Given the description of an element on the screen output the (x, y) to click on. 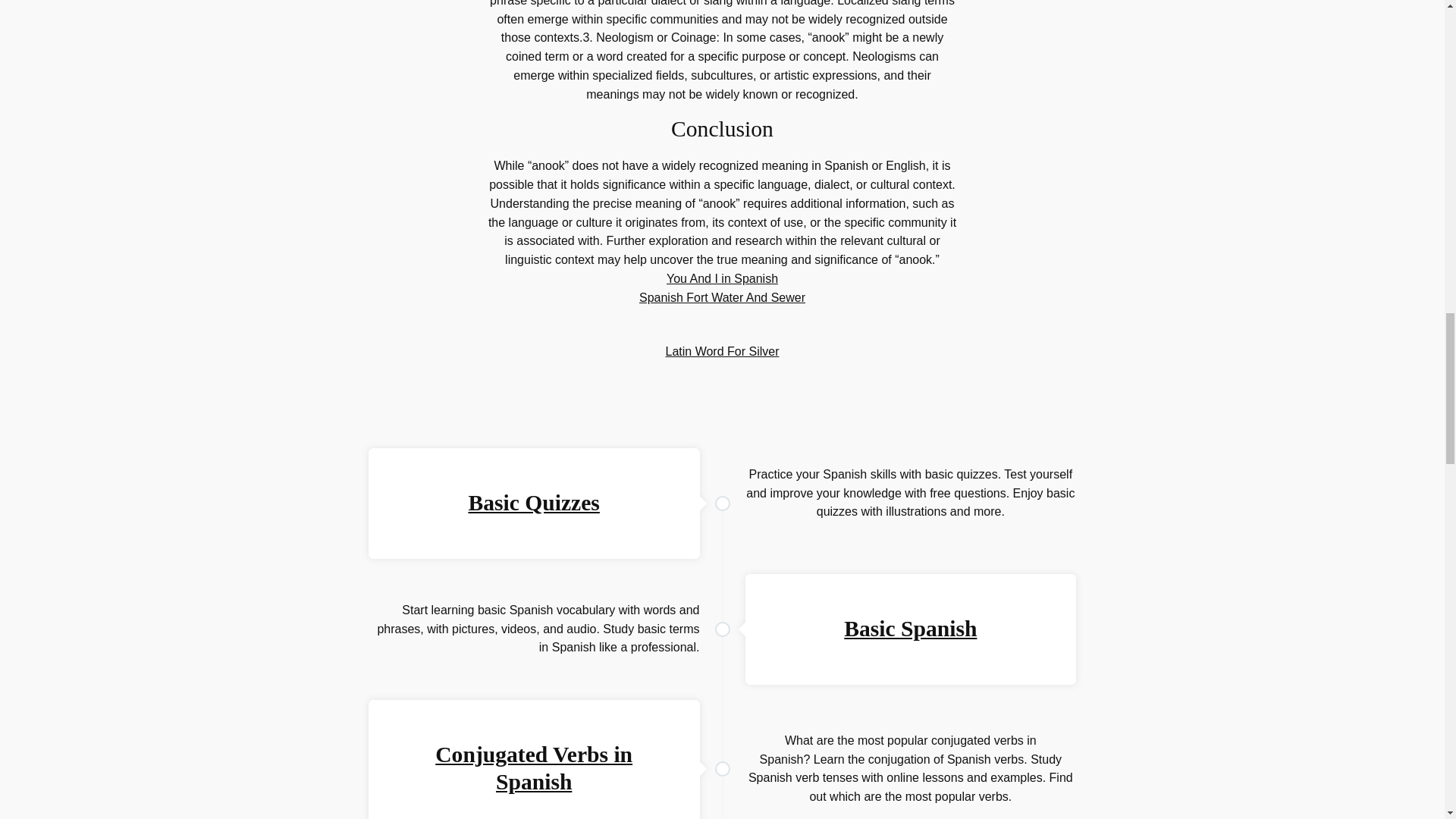
Basic Quizzes (532, 502)
Spanish Fort Water And Sewer (722, 297)
You And I in Spanish (721, 278)
Latin Word For Silver (721, 350)
